Given the description of an element on the screen output the (x, y) to click on. 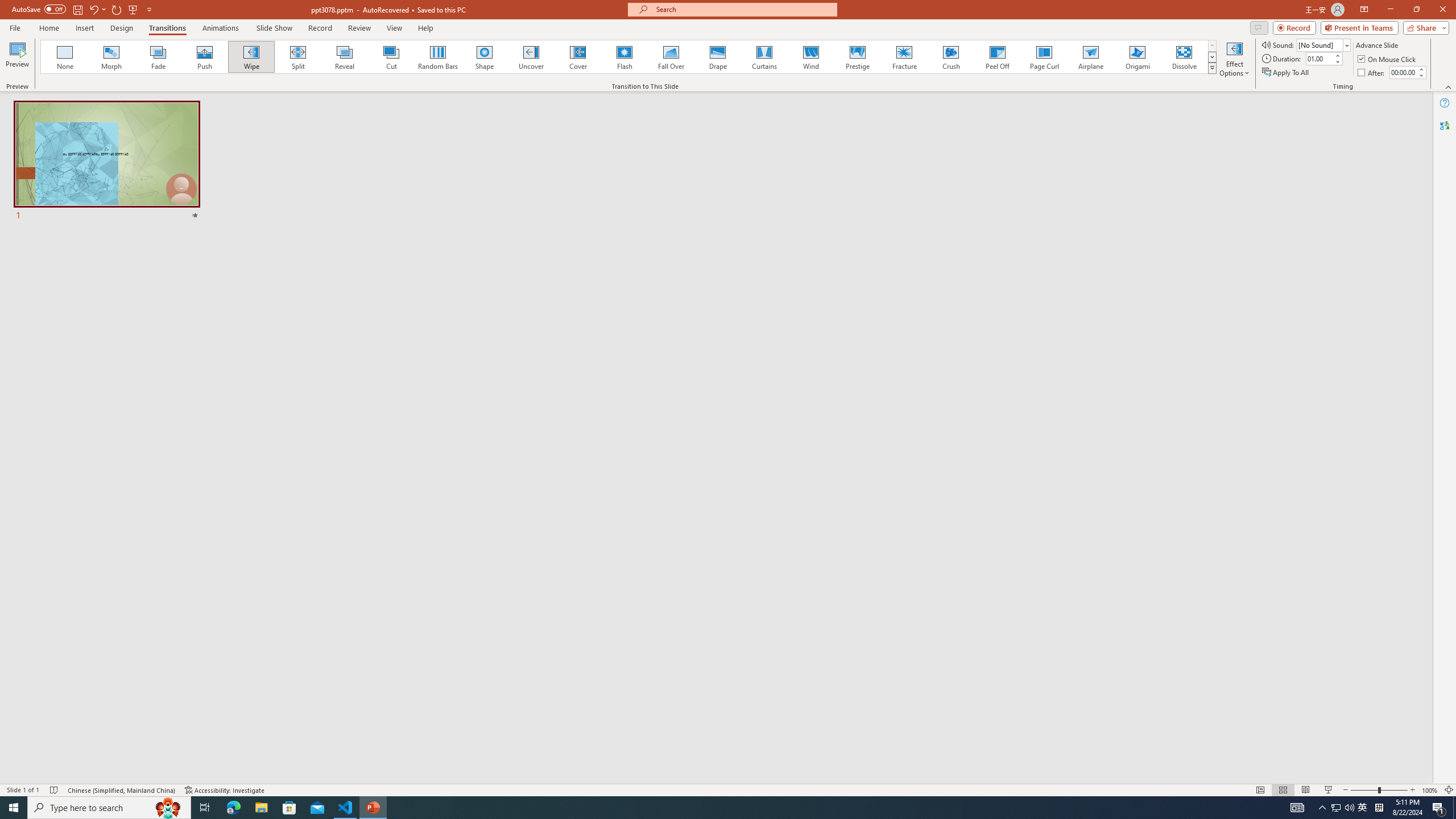
Drape (717, 56)
Wind (810, 56)
AutomationID: AnimationTransitionGallery (628, 56)
Transition Effects (1212, 67)
Random Bars (437, 56)
Preview (17, 58)
Sound (1324, 44)
Class: MsoCommandBar (728, 789)
Airplane (1090, 56)
